Given the description of an element on the screen output the (x, y) to click on. 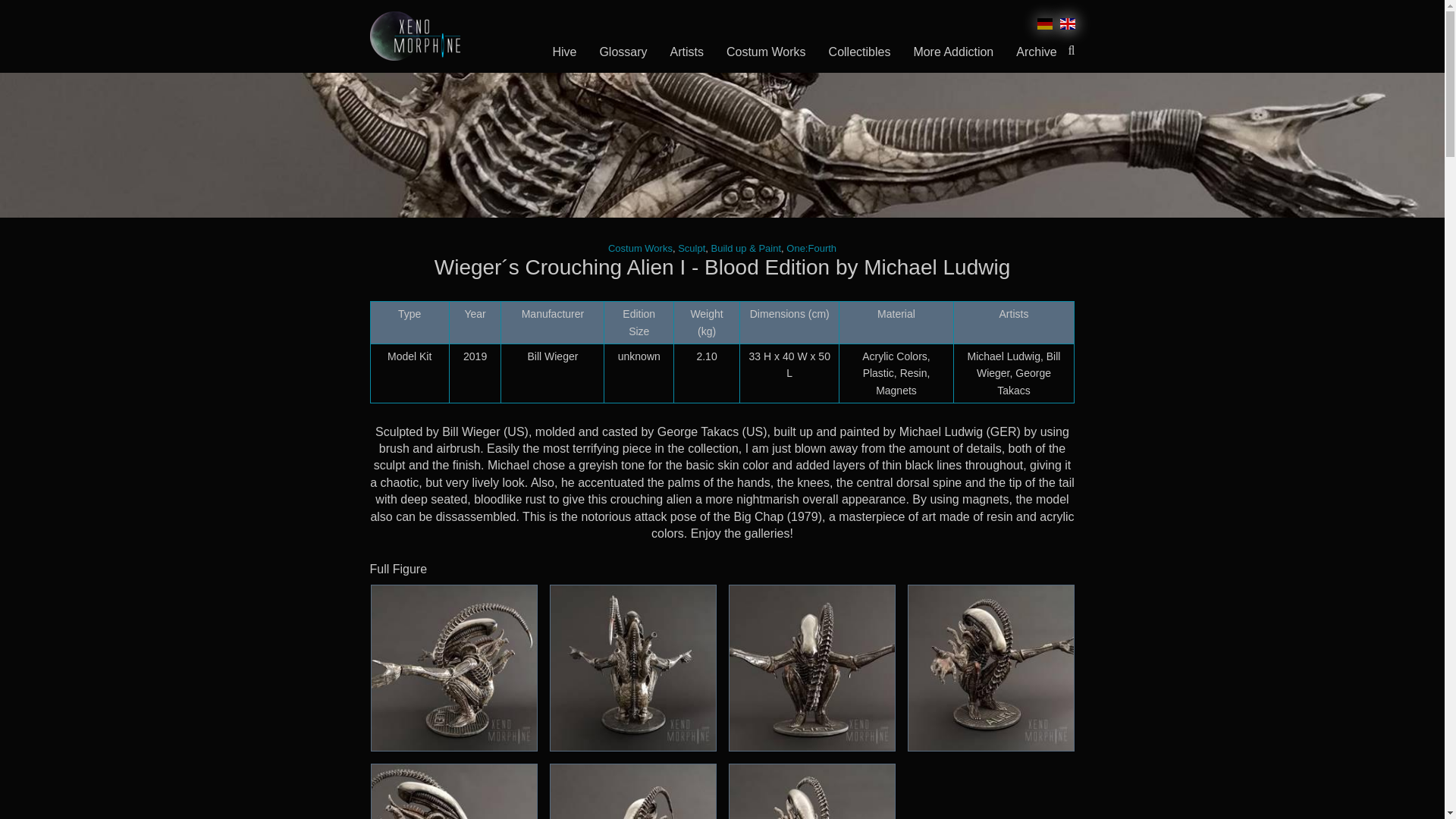
De (1043, 25)
Archive (1035, 52)
Xenomorphine (414, 35)
Glossary (623, 52)
Sculpt (691, 247)
Costum Works (640, 247)
Artists (686, 52)
Hive (564, 52)
Hive (564, 52)
More Addiction (952, 52)
